Given the description of an element on the screen output the (x, y) to click on. 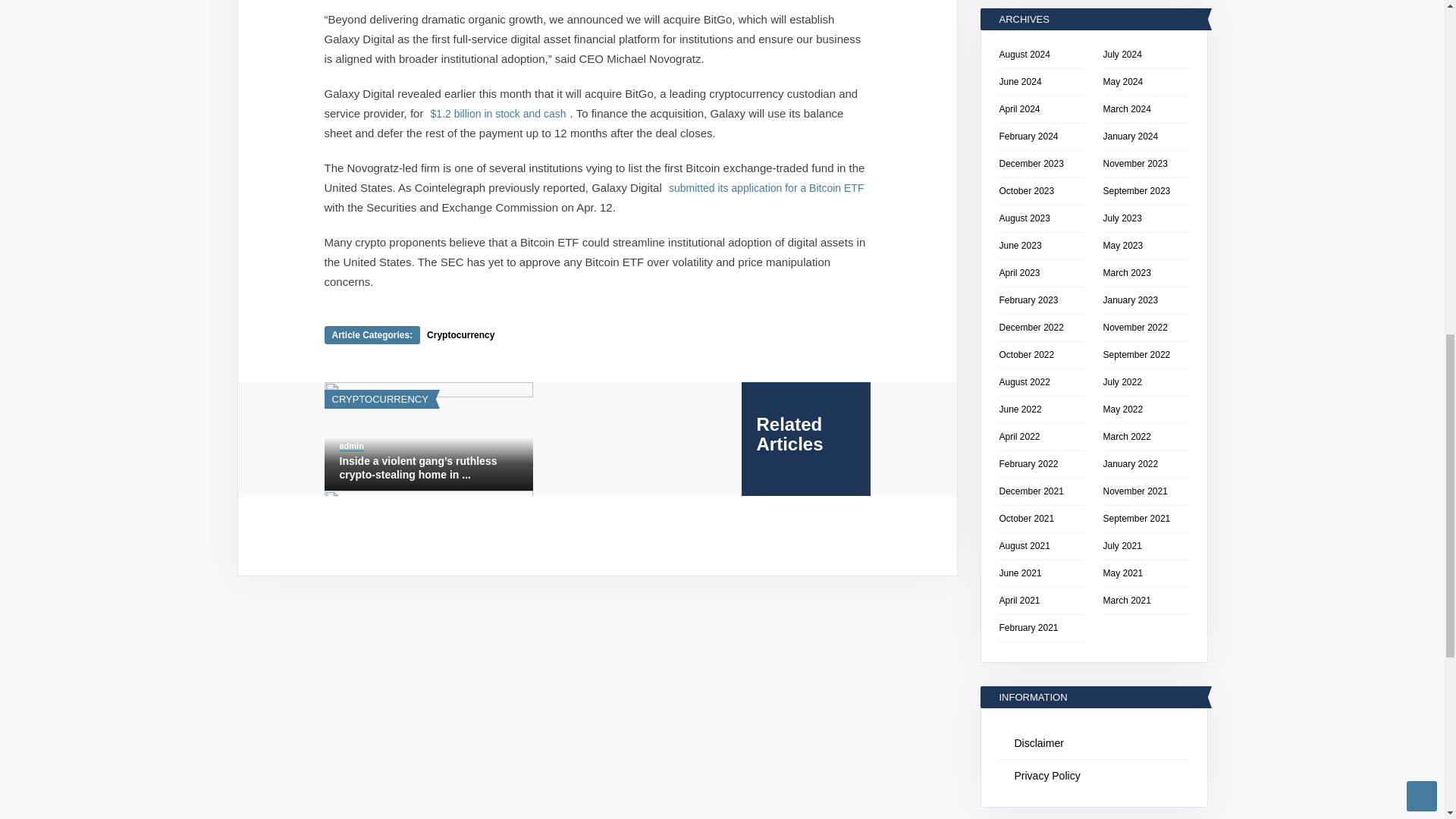
Posts by admin (351, 446)
Cryptocurrency (460, 335)
admin (351, 446)
CRYPTOCURRENCY (379, 398)
View all posts in Cryptocurrency (379, 398)
submitted its application for a Bitcoin ETF (766, 187)
